Given the description of an element on the screen output the (x, y) to click on. 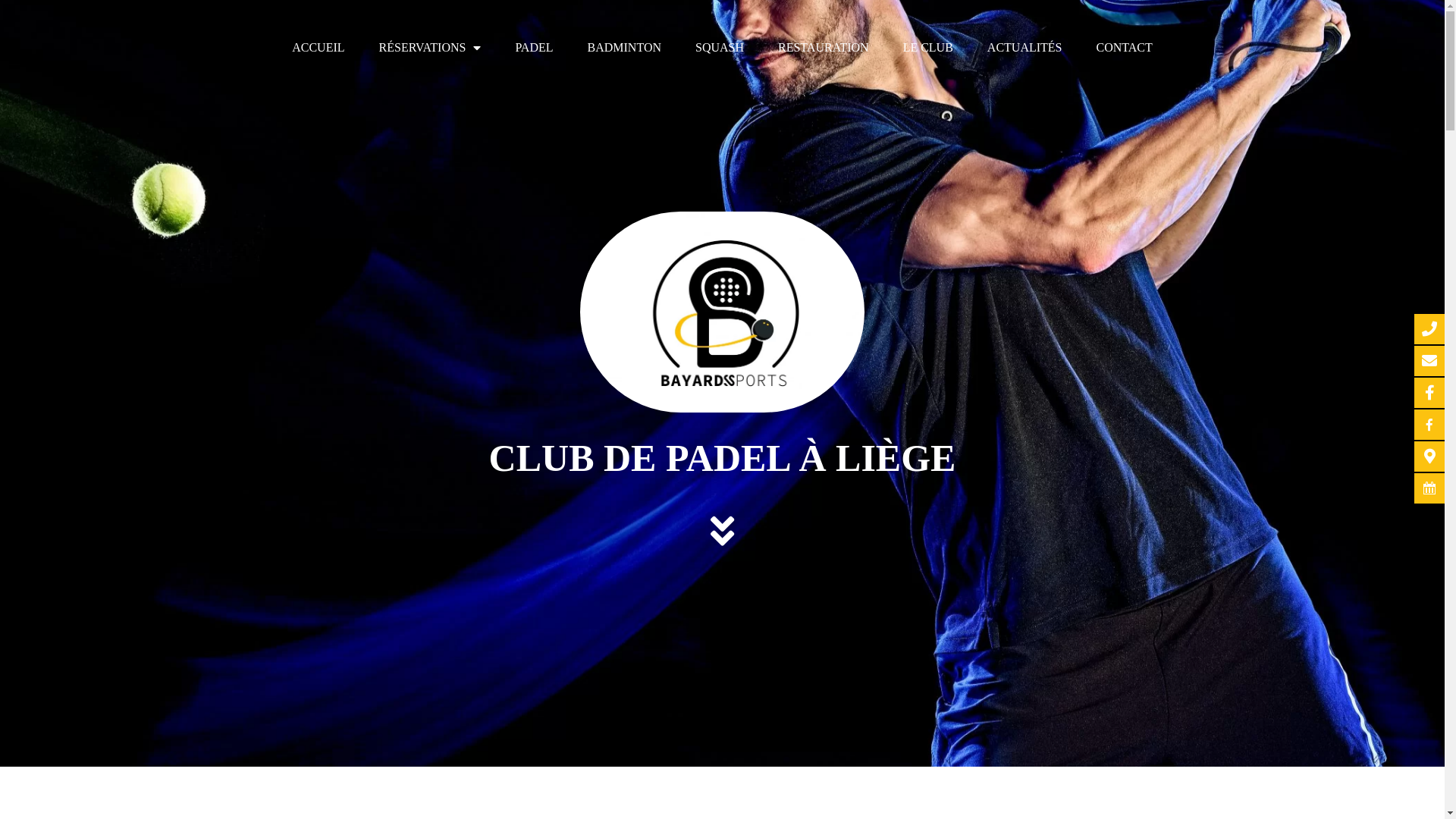
LE CLUB Element type: text (928, 47)
ACCUEIL Element type: text (317, 47)
RESTAURATION Element type: text (823, 47)
PADEL Element type: text (533, 47)
CONTACT Element type: text (1124, 47)
BADMINTON Element type: text (624, 47)
SQUASH Element type: text (719, 47)
